Given the description of an element on the screen output the (x, y) to click on. 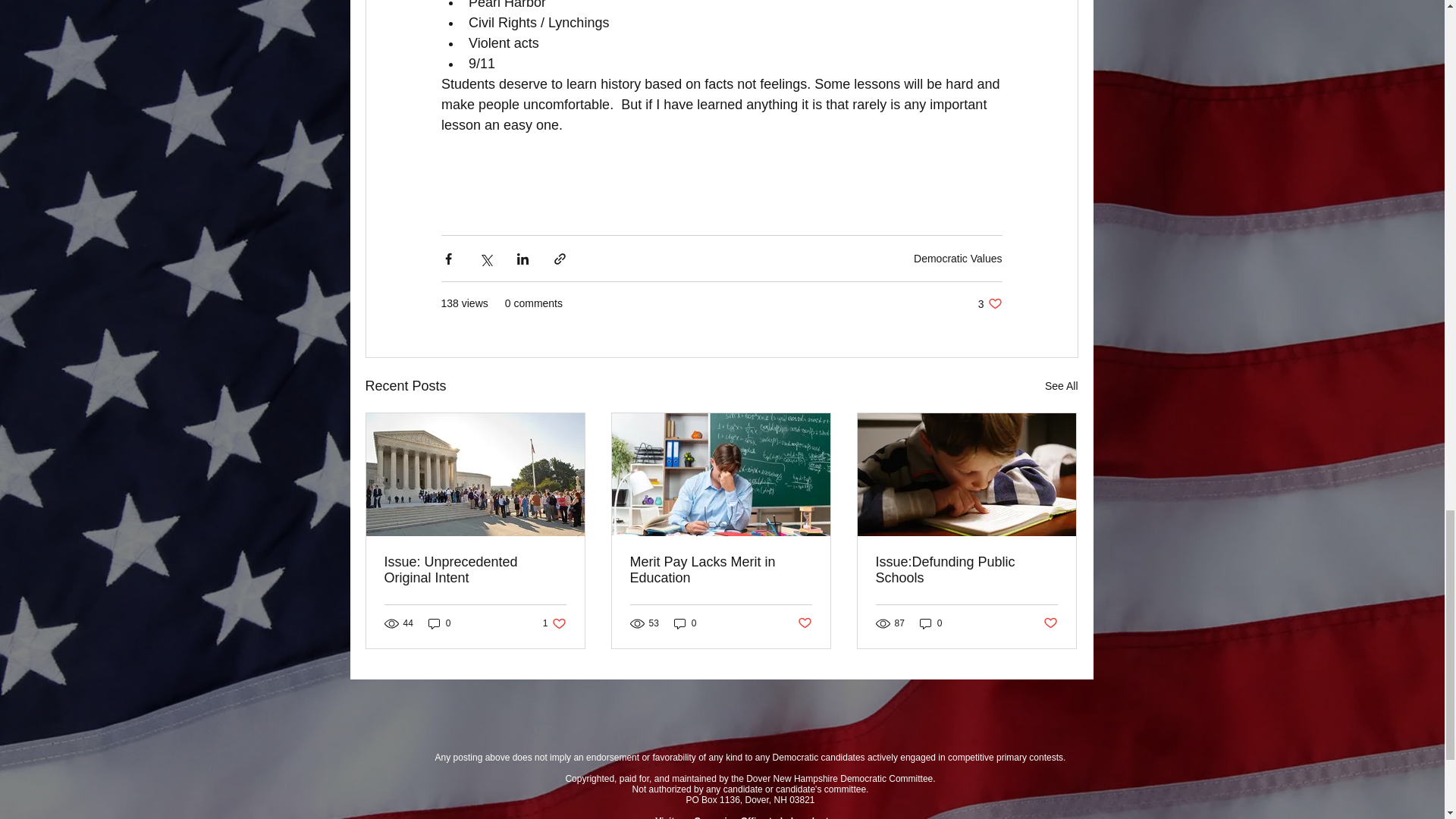
See All (1061, 386)
Issue: Unprecedented Original Intent (990, 303)
0 (475, 570)
Democratic Values (439, 623)
